Given the description of an element on the screen output the (x, y) to click on. 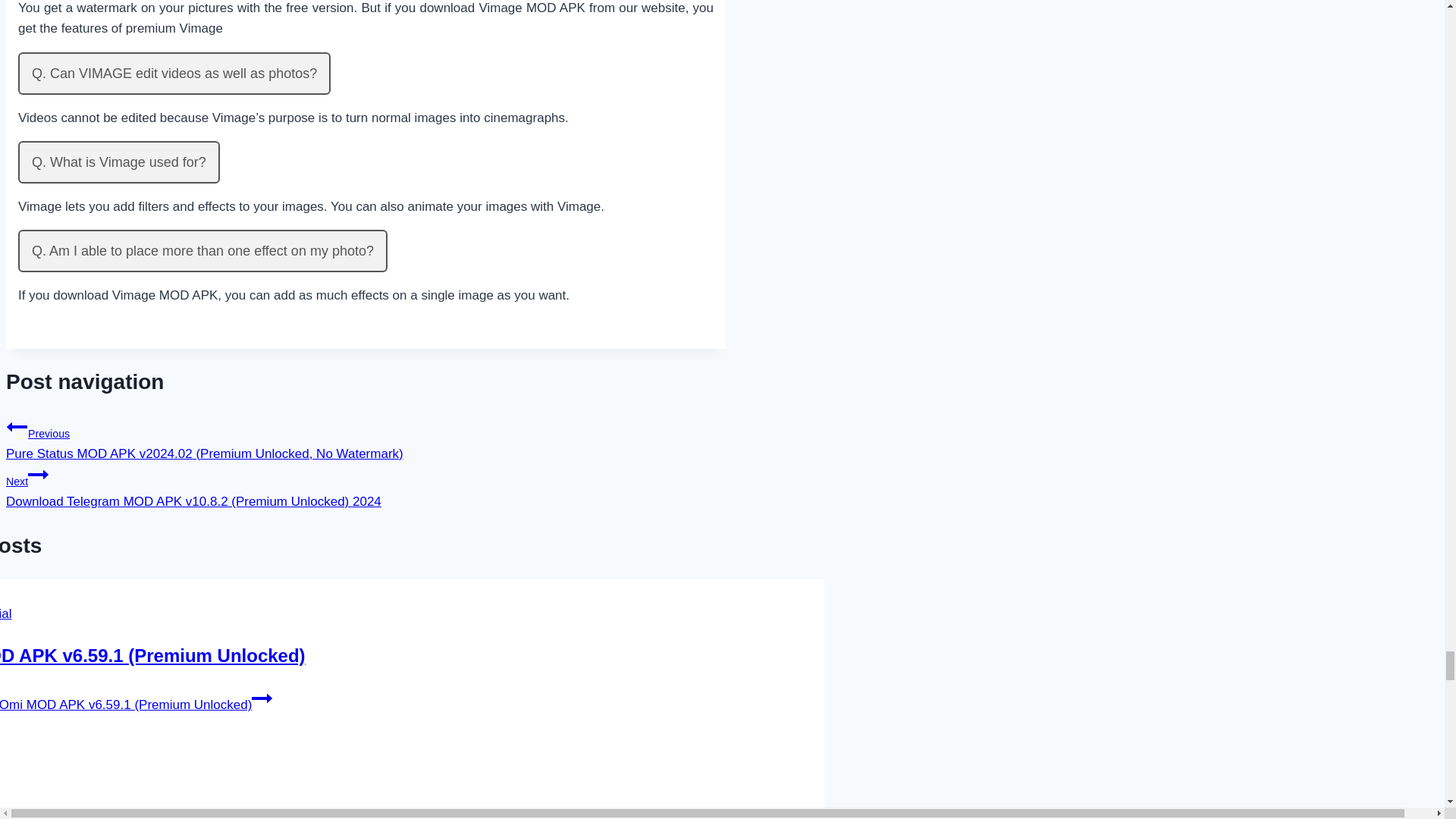
Continue (37, 474)
Continue (261, 698)
Previous (16, 426)
